Given the description of an element on the screen output the (x, y) to click on. 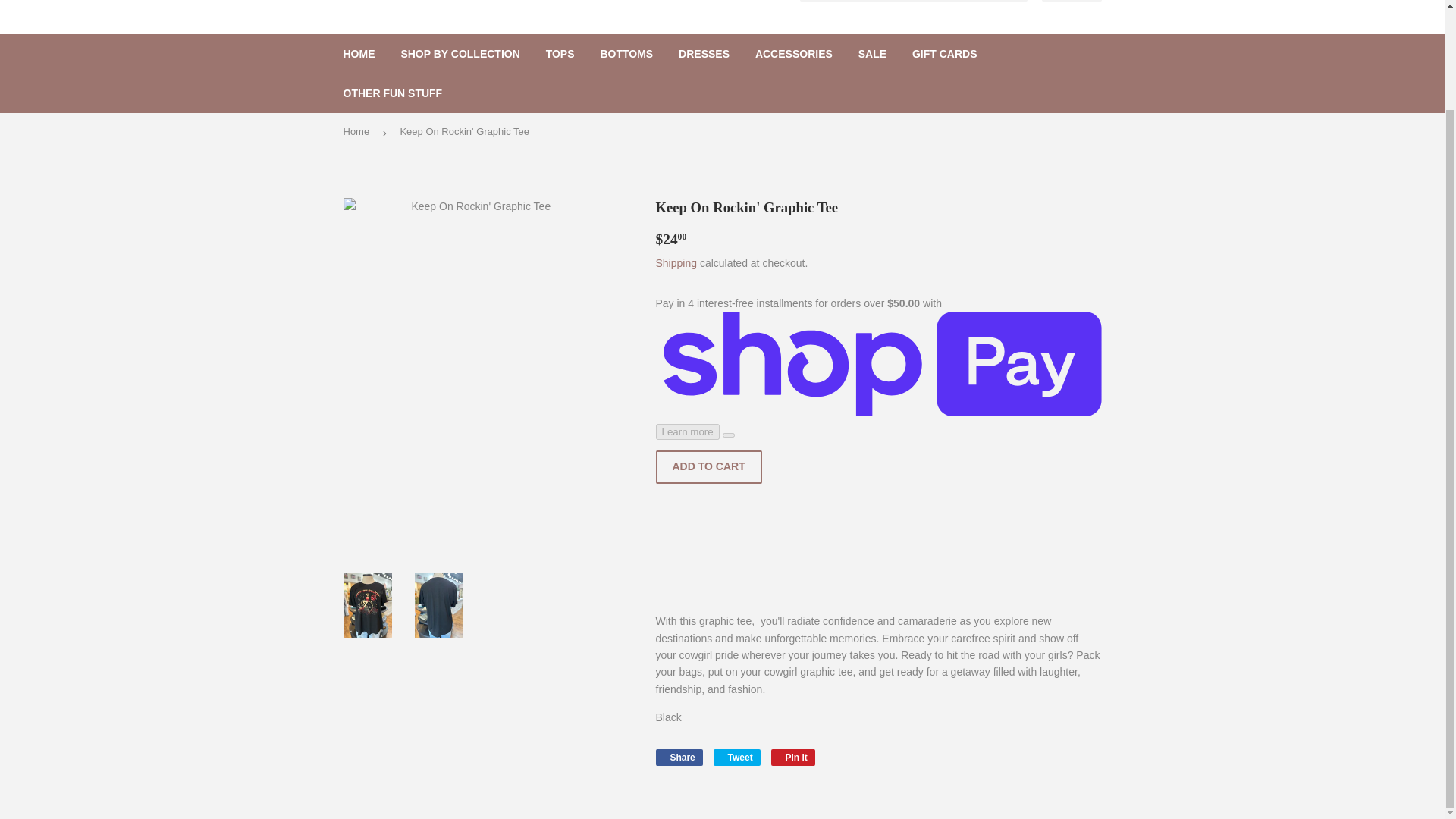
Share on Facebook (678, 757)
Search (1009, 0)
Tweet on Twitter (736, 757)
Pin on Pinterest (793, 757)
CART (1072, 0)
